Given the description of an element on the screen output the (x, y) to click on. 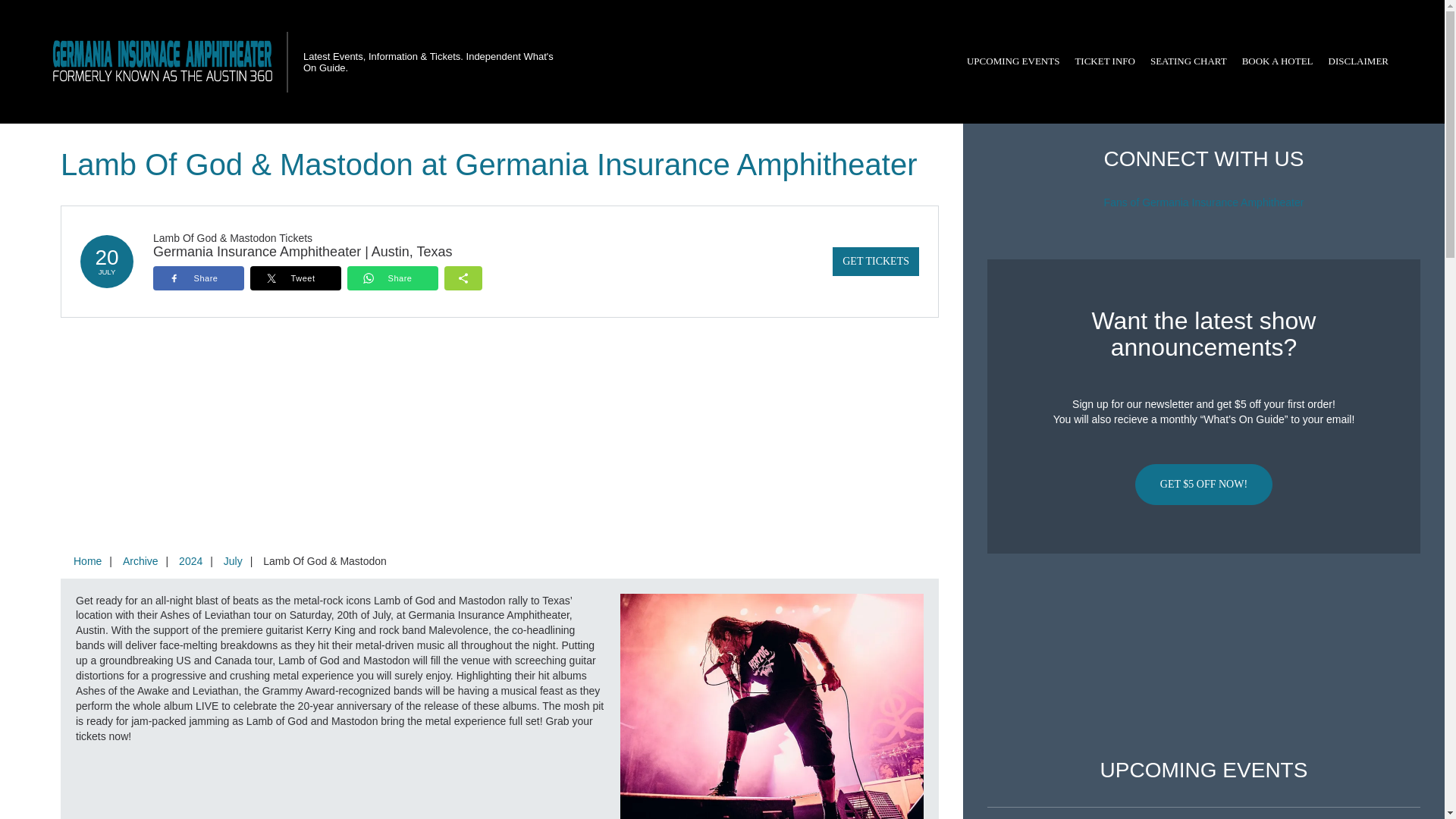
TICKET INFO (1104, 61)
Fans of Germania Insurance Amphitheater (1203, 202)
GET TICKETS (875, 261)
UPCOMING EVENTS (1013, 61)
SEATING CHART (1188, 61)
Home (87, 561)
DISCLAIMER (1358, 61)
Archive (140, 561)
2024 (190, 561)
July (232, 561)
Advertisement (1204, 655)
BOOK A HOTEL (1277, 61)
